Given the description of an element on the screen output the (x, y) to click on. 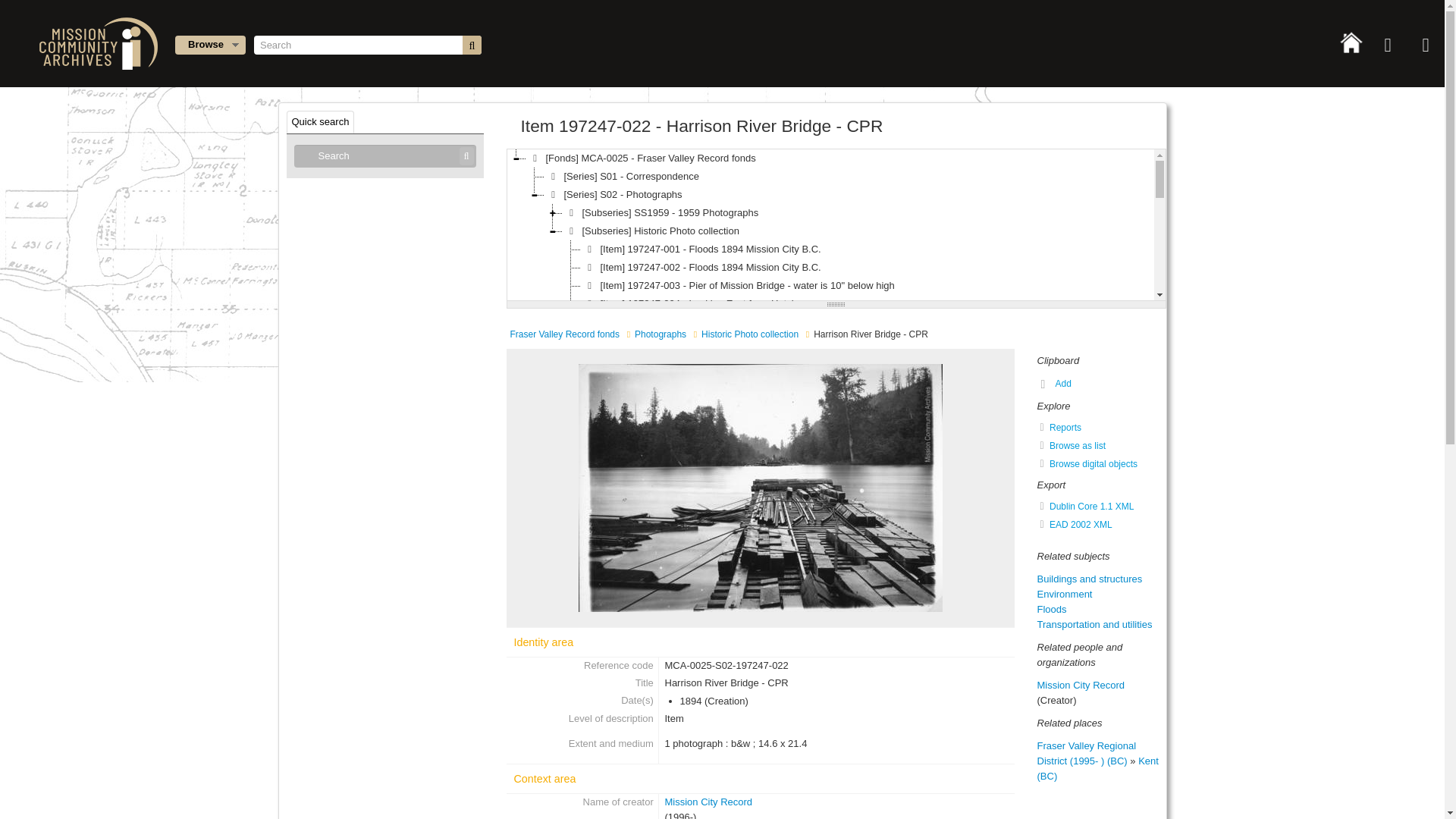
Quick search (320, 121)
Clipboard (1387, 45)
Browse (210, 45)
